Given the description of an element on the screen output the (x, y) to click on. 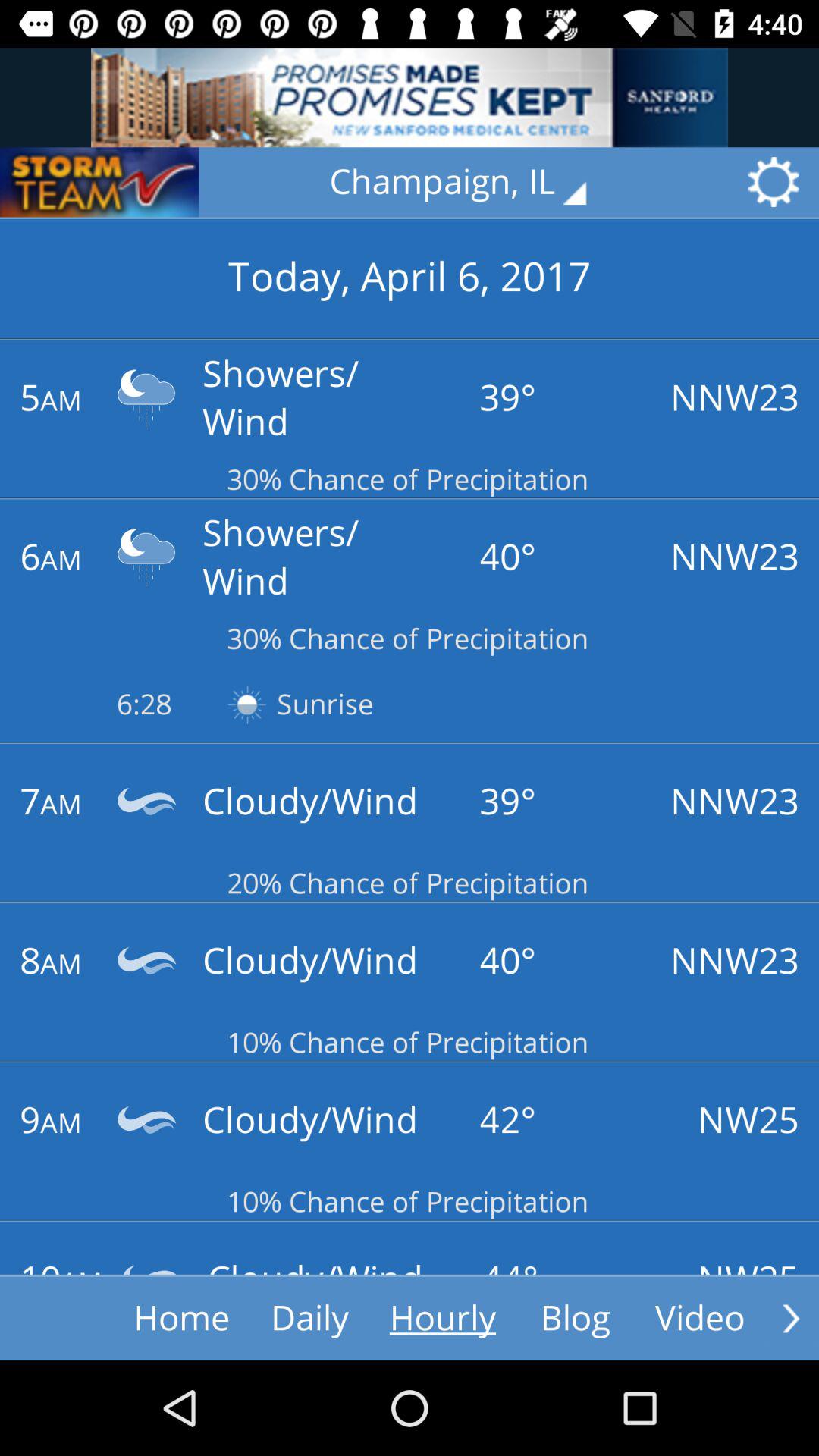
click to logo (99, 182)
